Given the description of an element on the screen output the (x, y) to click on. 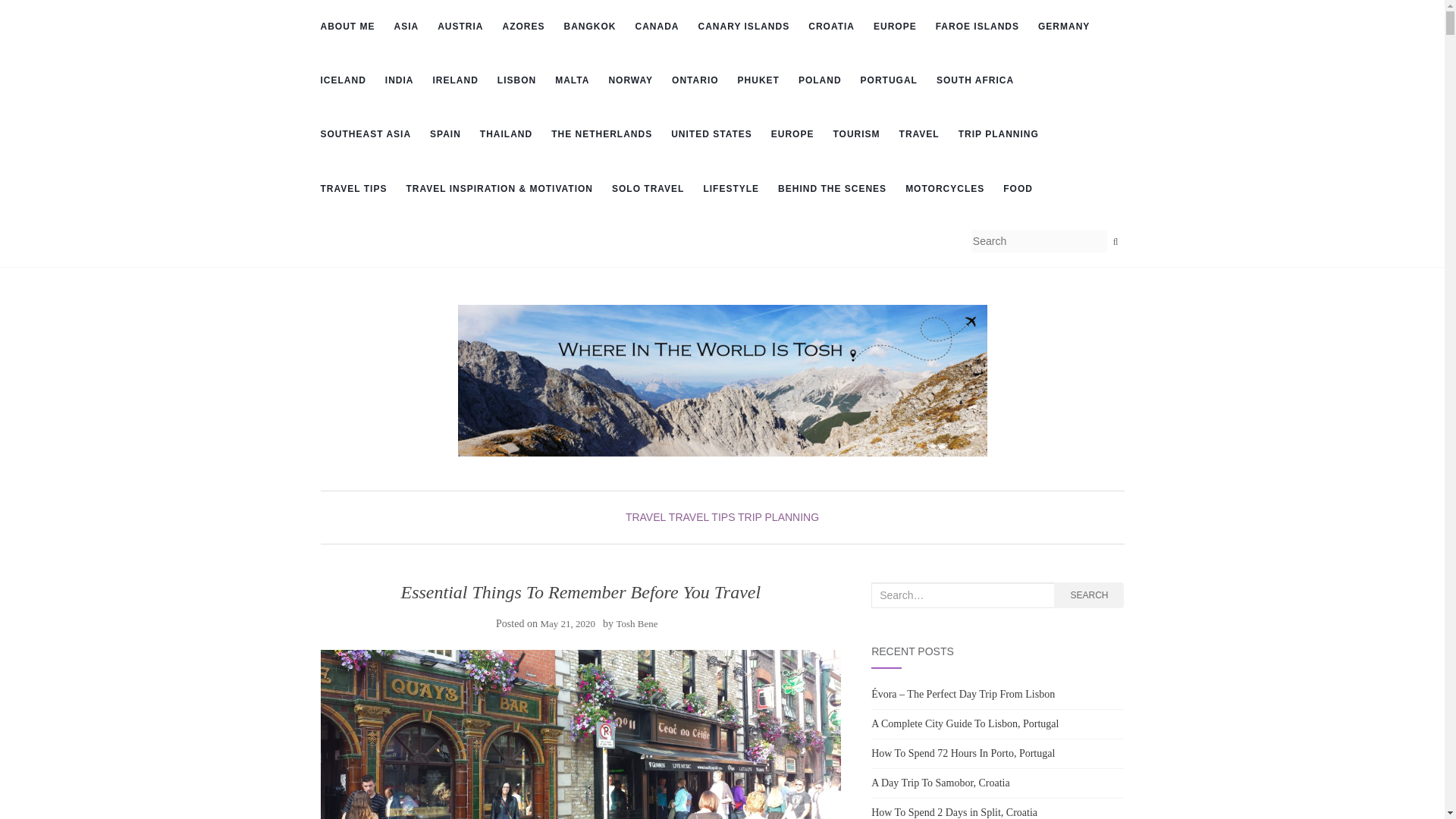
MOTORCYCLES (944, 189)
CANARY ISLANDS (744, 27)
Faroe Islands (977, 27)
SOUTHEAST ASIA (365, 134)
About Me (347, 27)
BANGKOK (589, 27)
SOUTH AFRICA (974, 80)
BEHIND THE SCENES (831, 189)
LIFESTYLE (730, 189)
SOLO TRAVEL (647, 189)
FAROE ISLANDS (977, 27)
TRIP PLANNING (998, 134)
PORTUGAL (888, 80)
GERMANY (1063, 27)
UNITED STATES (711, 134)
